Given the description of an element on the screen output the (x, y) to click on. 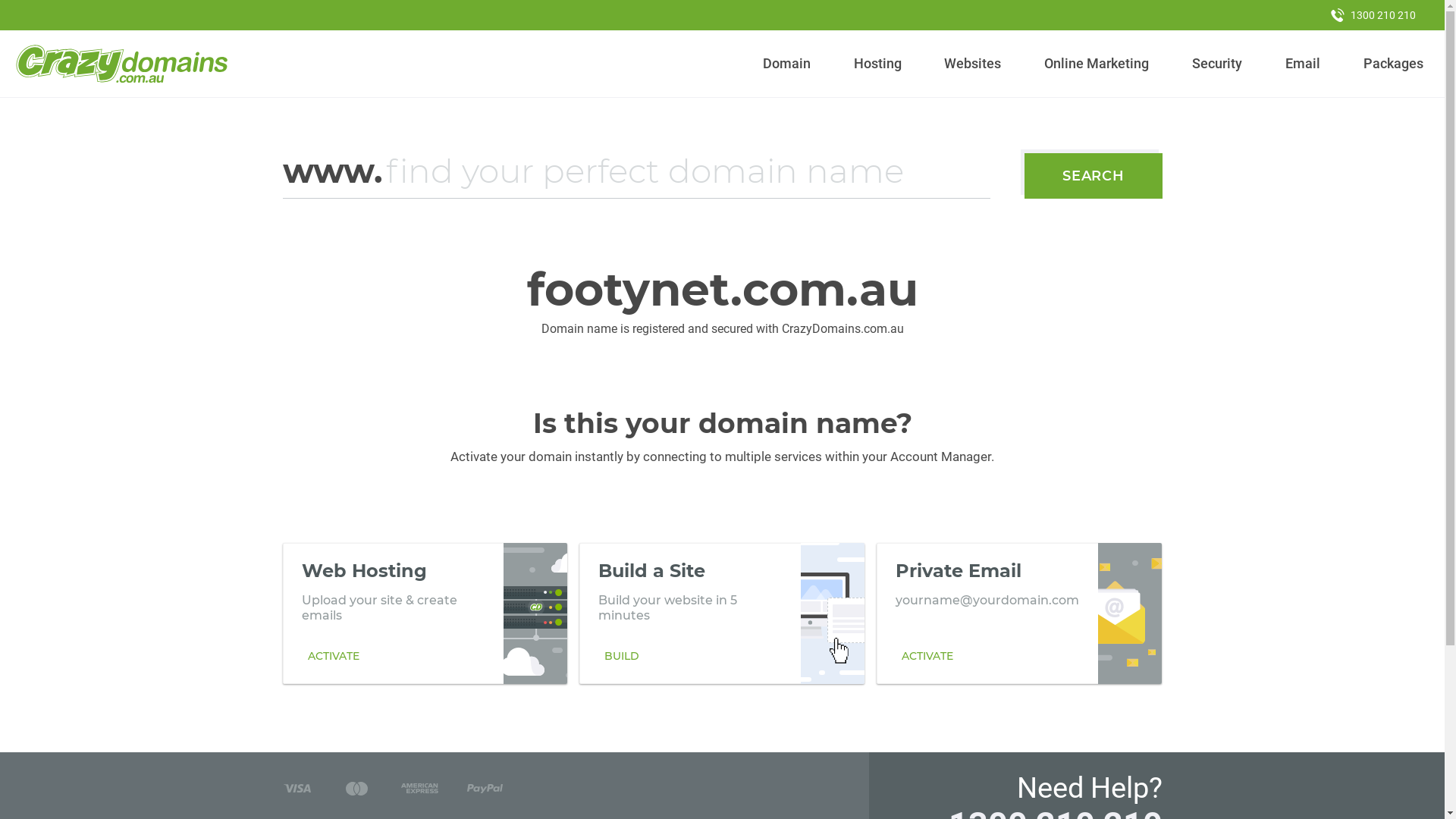
Email Element type: text (1302, 63)
Hosting Element type: text (877, 63)
SEARCH Element type: text (1092, 175)
Private Email
yourname@yourdomain.com
ACTIVATE Element type: text (1018, 613)
Online Marketing Element type: text (1096, 63)
Domain Element type: text (786, 63)
1300 210 210 Element type: text (1373, 15)
Build a Site
Build your website in 5 minutes
BUILD Element type: text (721, 613)
Packages Element type: text (1392, 63)
Websites Element type: text (972, 63)
Security Element type: text (1217, 63)
Web Hosting
Upload your site & create emails
ACTIVATE Element type: text (424, 613)
